Given the description of an element on the screen output the (x, y) to click on. 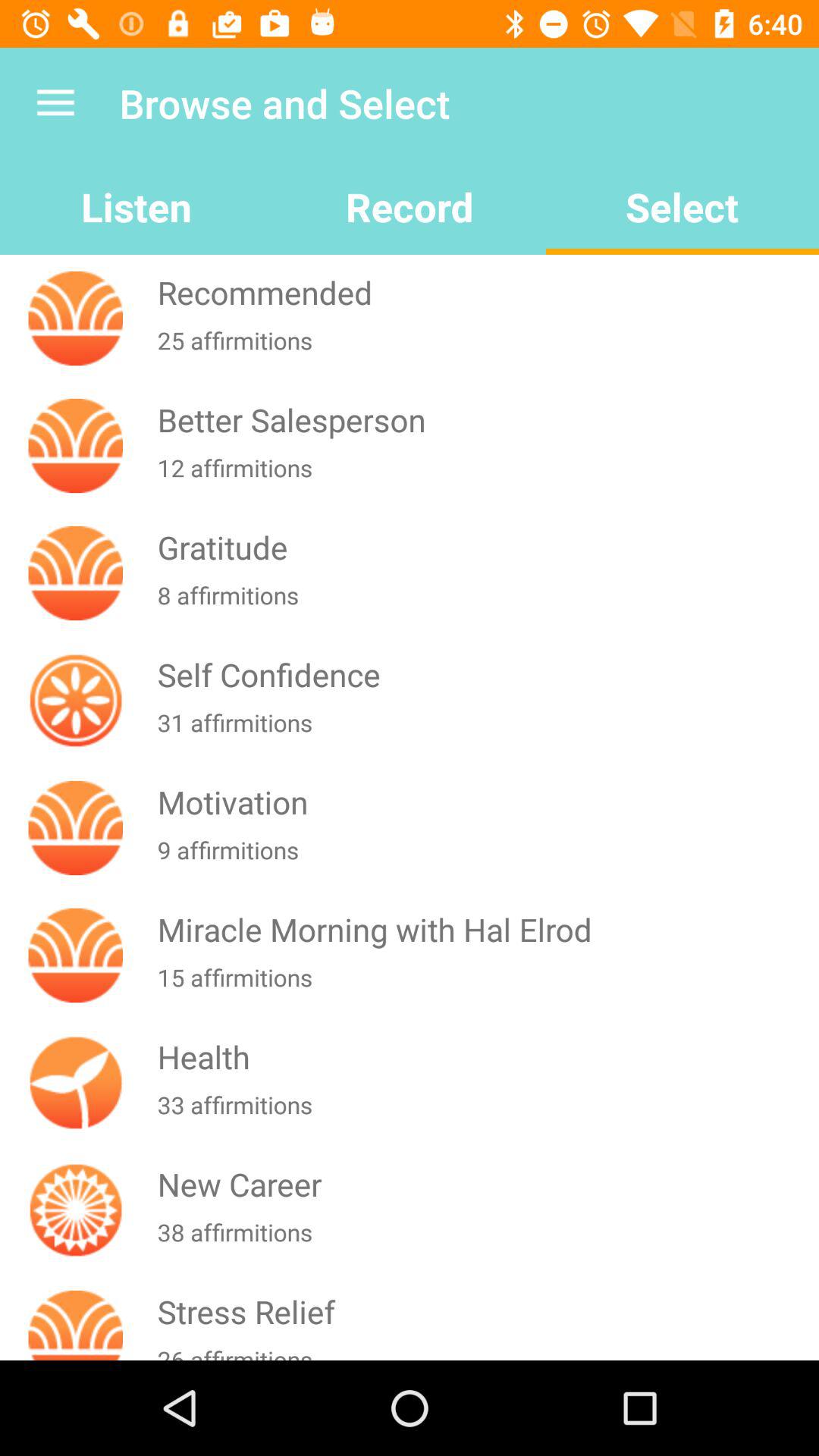
jump to 8 affirmitions (484, 604)
